Given the description of an element on the screen output the (x, y) to click on. 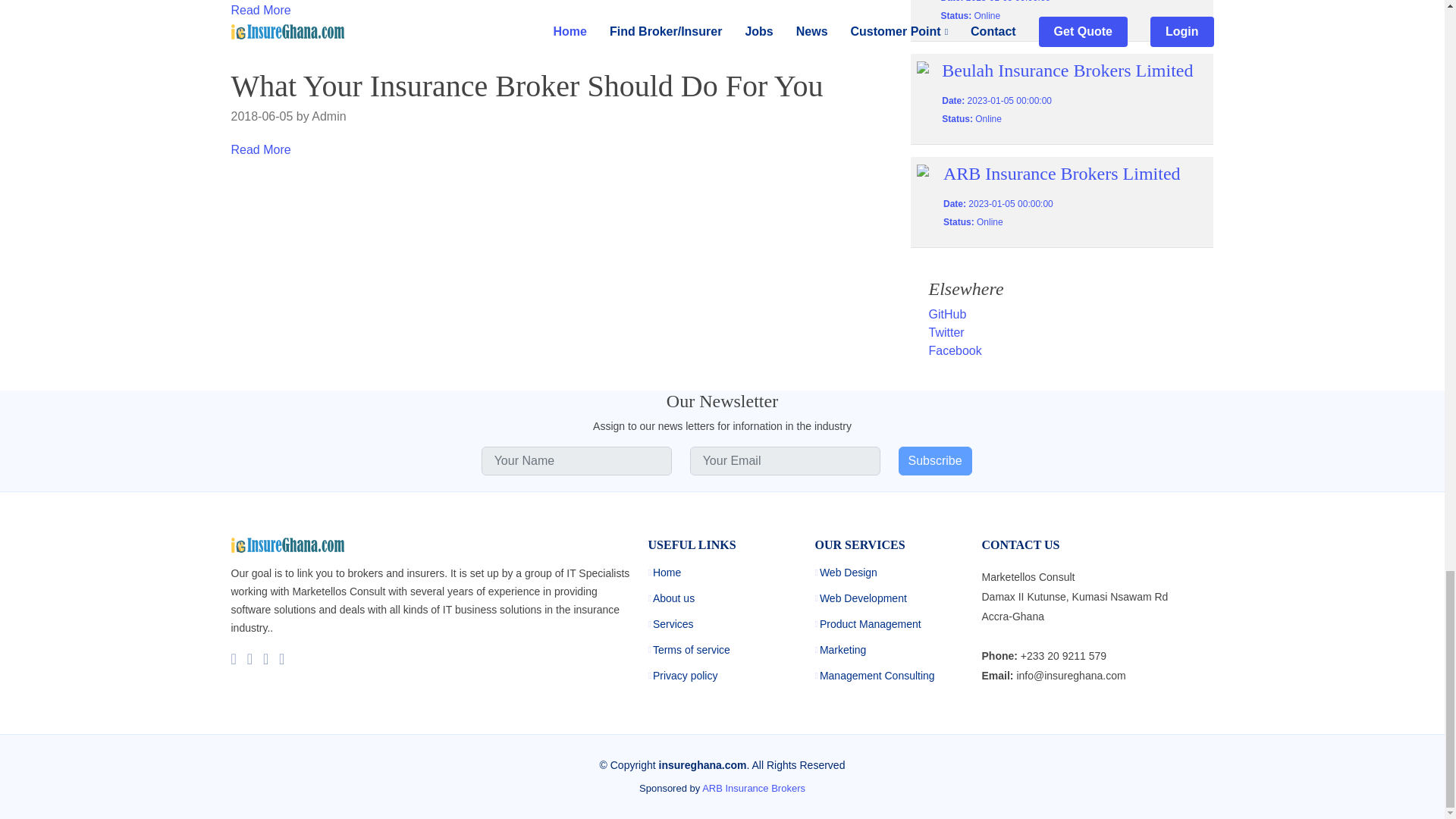
Subscribe (934, 460)
Read More (259, 10)
Read More (259, 149)
